Given the description of an element on the screen output the (x, y) to click on. 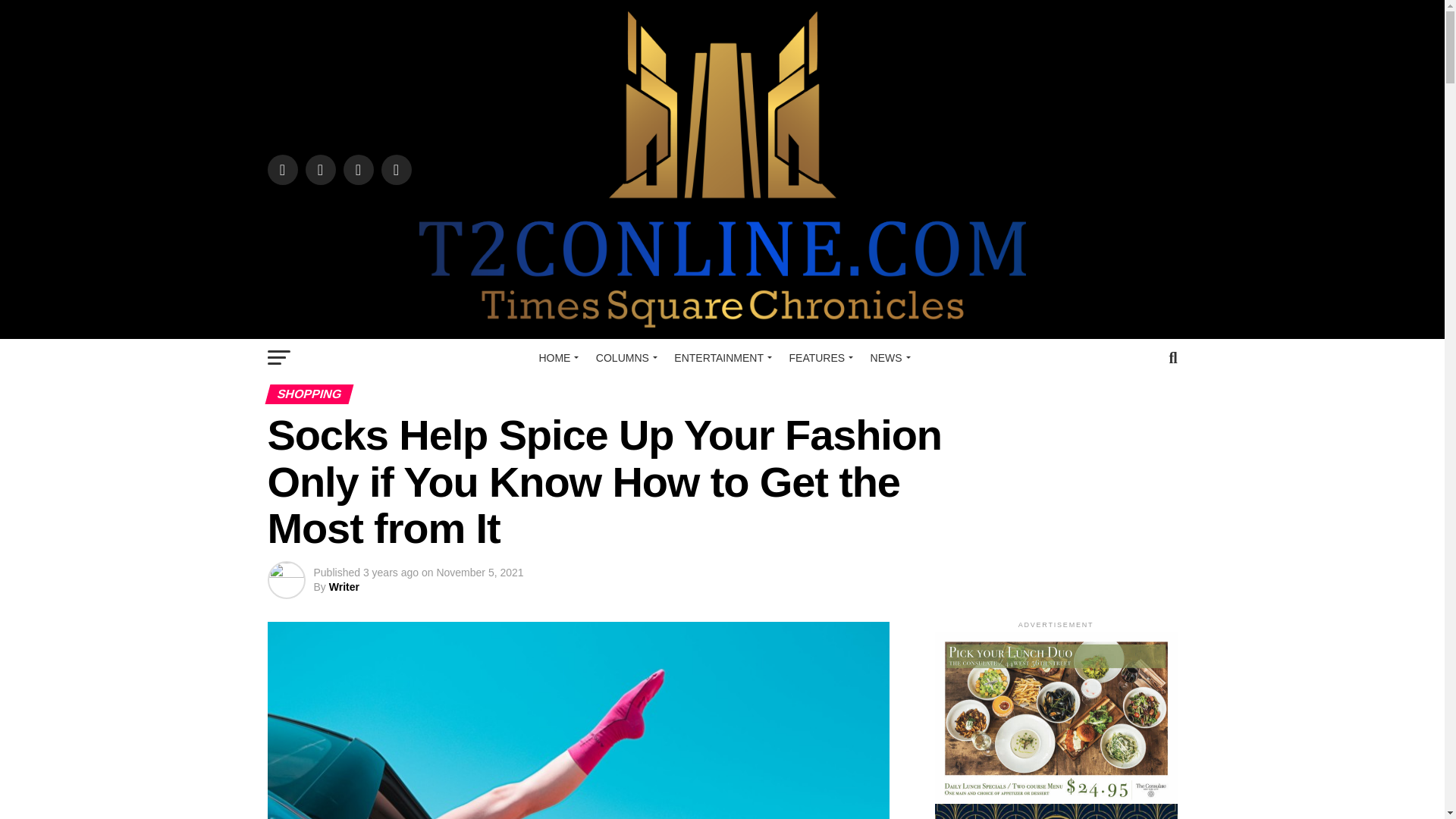
HOME (556, 357)
COLUMNS (624, 357)
ENTERTAINMENT (720, 357)
Posts by Writer (344, 586)
